Given the description of an element on the screen output the (x, y) to click on. 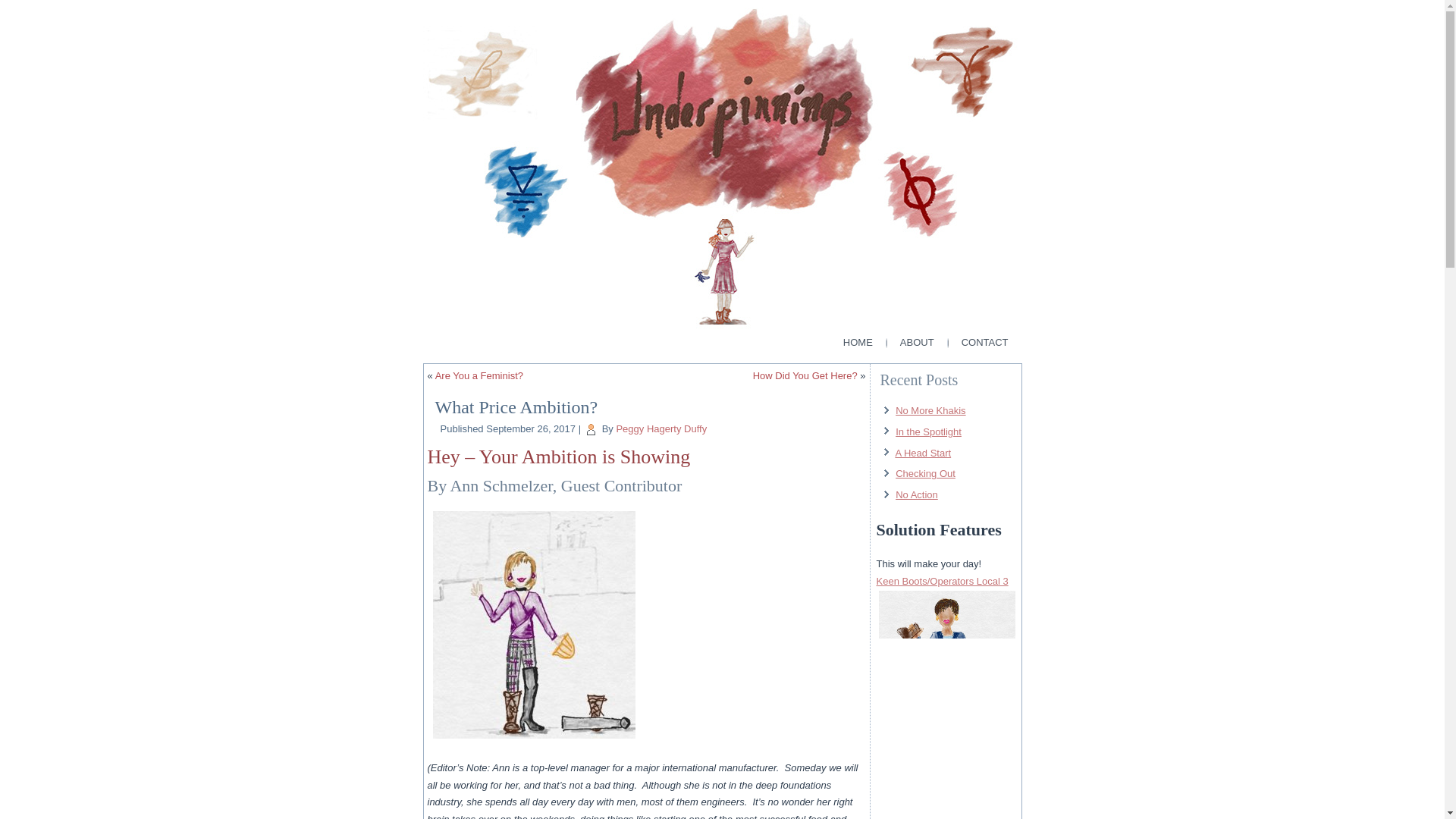
How Did You Get Here? (804, 375)
About (916, 342)
How Did You Get Here? (804, 375)
View all posts by Peggy Hagerty Duffy (660, 428)
Peggy Hagerty Duffy (660, 428)
ABOUT (916, 342)
CONTACT (985, 342)
Are You a Feminist? (478, 375)
Contact (985, 342)
Home (857, 342)
Are You a Feminist? (478, 375)
HOME (857, 342)
7:14 am (530, 428)
